Given the description of an element on the screen output the (x, y) to click on. 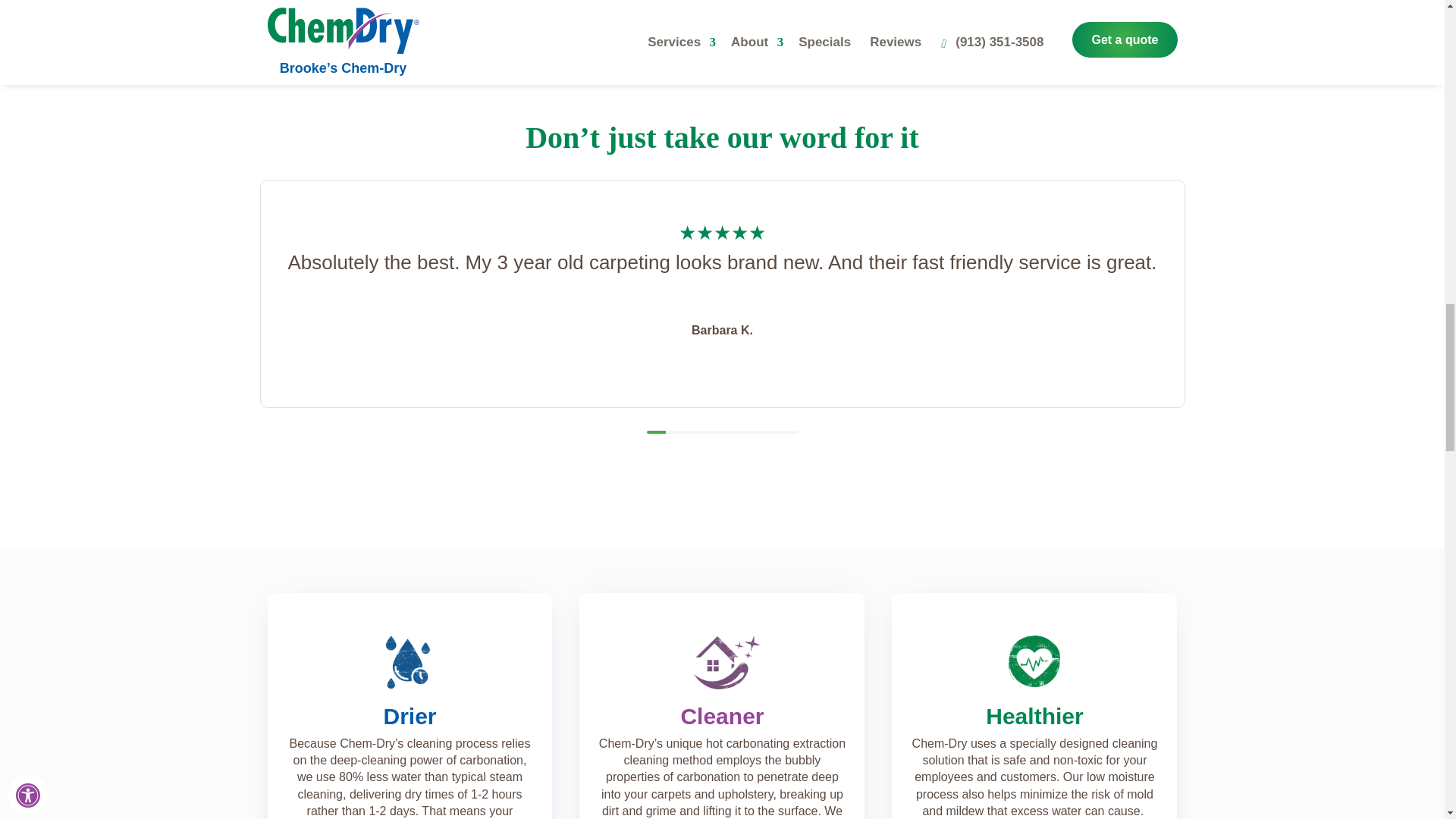
cd8-drier-icon (408, 661)
cd8-cleaner-icon (722, 661)
cd8-healthier-icon (1033, 661)
